Given the description of an element on the screen output the (x, y) to click on. 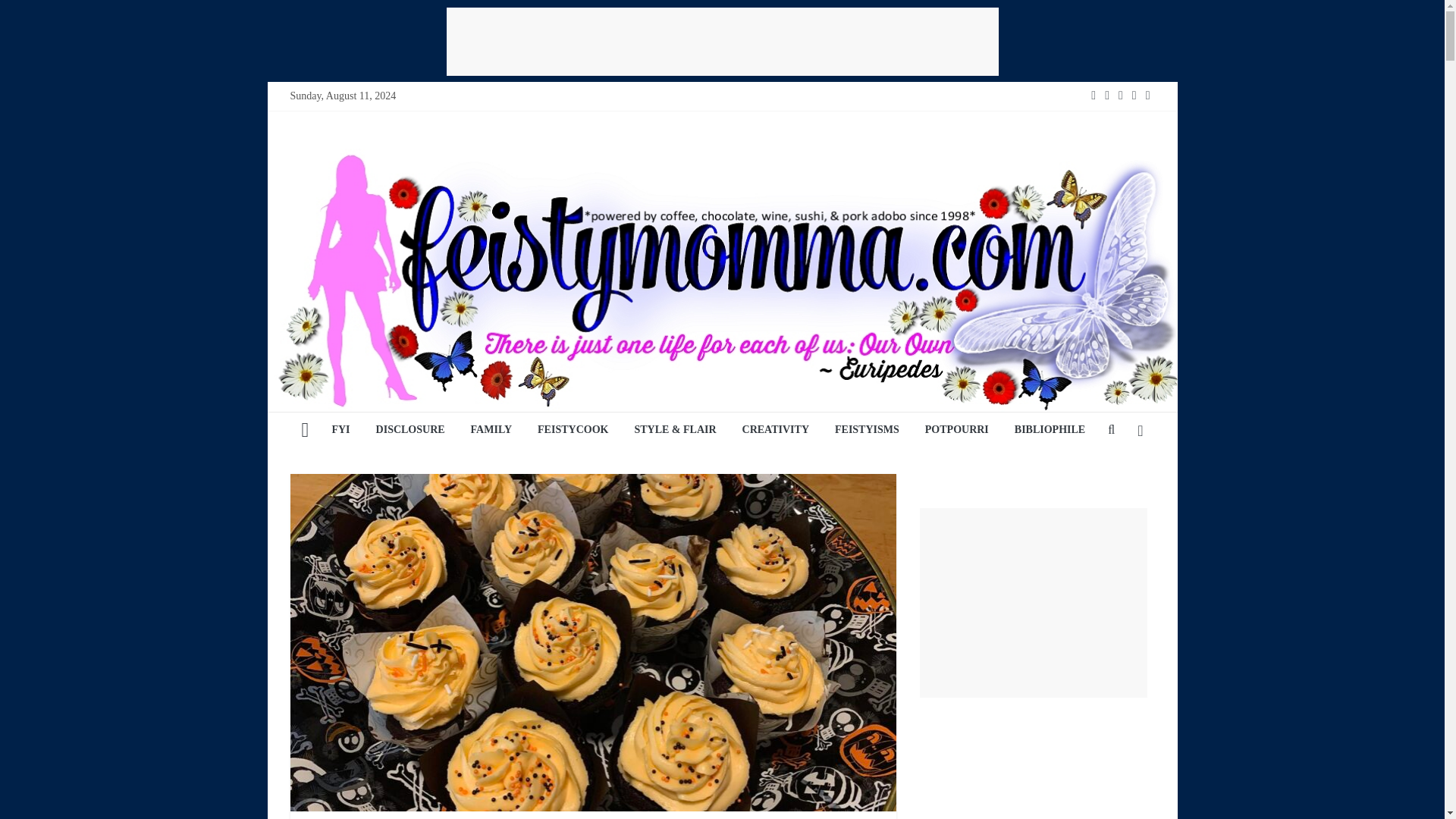
BIBLIOPHILE (1049, 430)
FAMILY (491, 430)
Advertisement (721, 41)
FYI (340, 430)
DISCLOSURE (411, 430)
FEISTYCOOK (572, 430)
CREATIVITY (775, 430)
POTPOURRI (957, 430)
FEISTYISMS (867, 430)
